Given the description of an element on the screen output the (x, y) to click on. 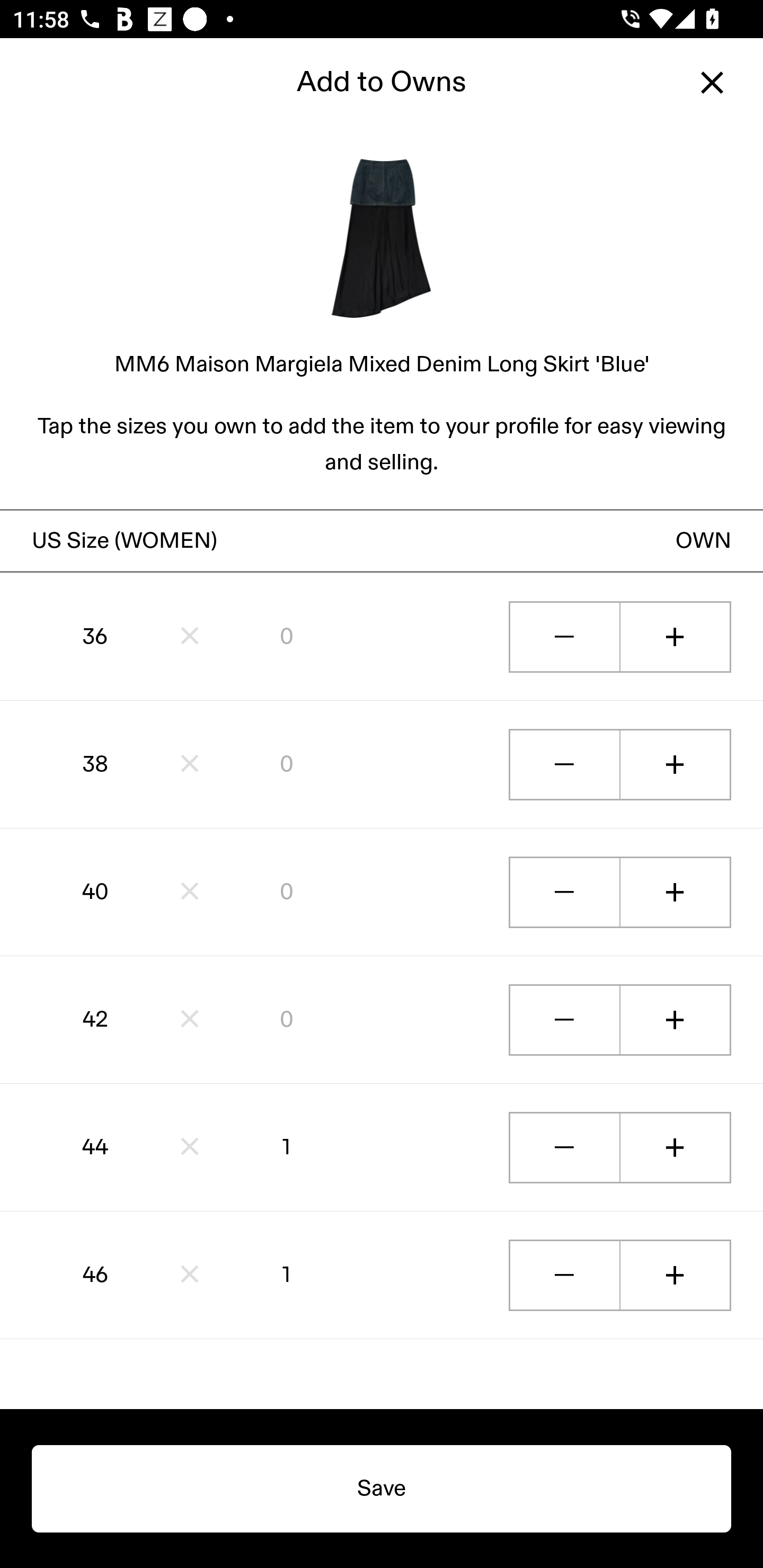
Save (381, 1488)
